Given the description of an element on the screen output the (x, y) to click on. 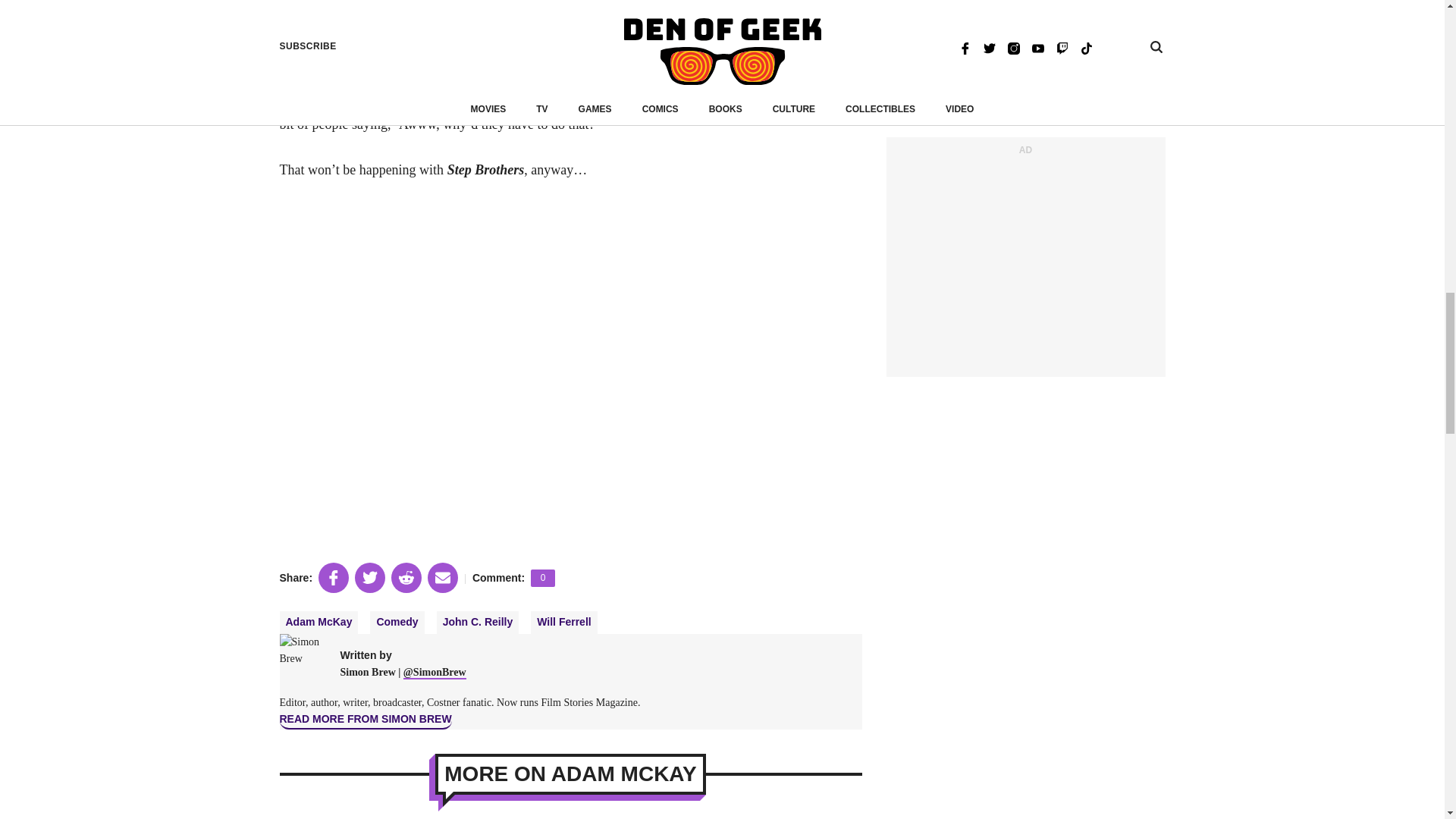
Adam McKay (318, 621)
